Given the description of an element on the screen output the (x, y) to click on. 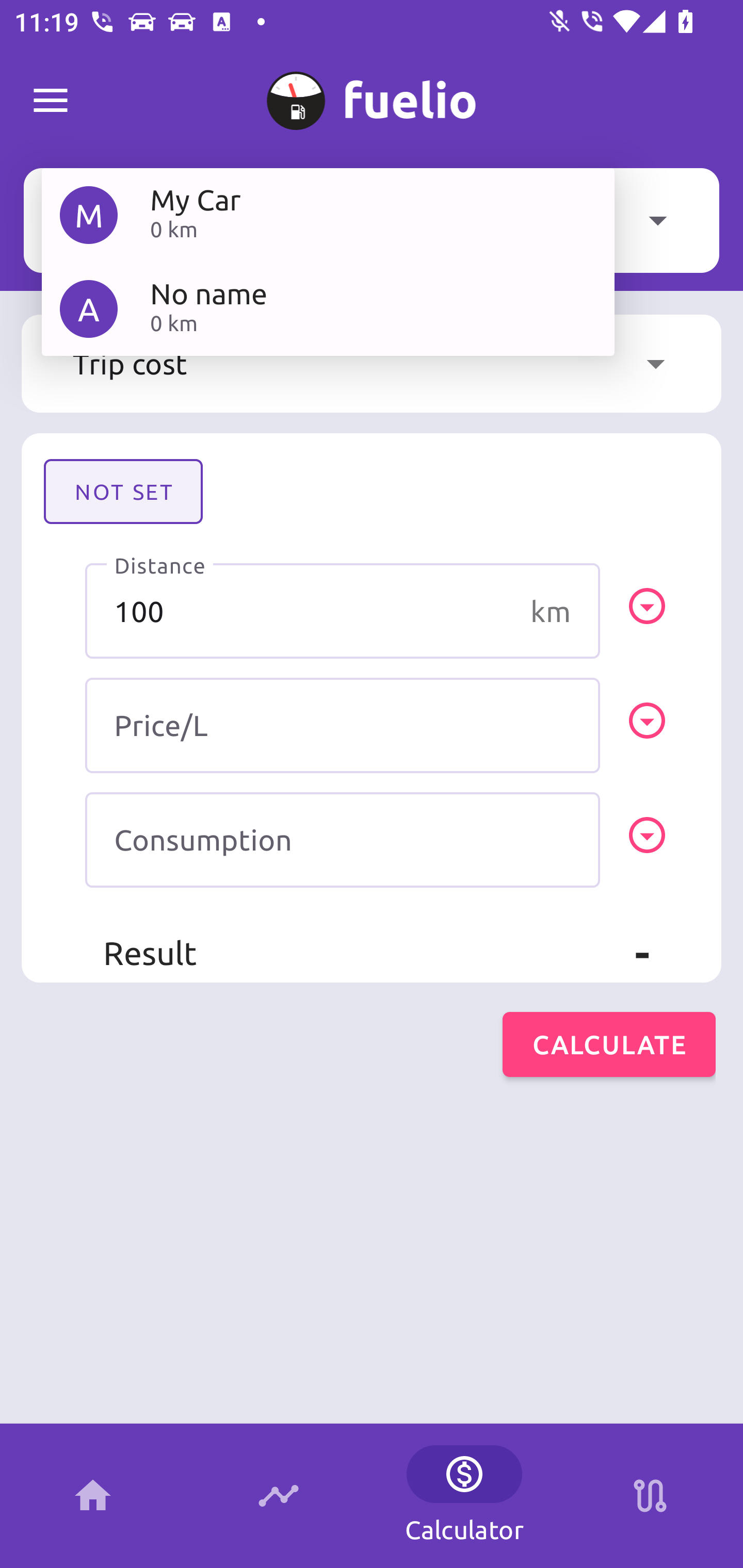
M My Car 0 km (327, 214)
A No name 0 km (327, 308)
